Given the description of an element on the screen output the (x, y) to click on. 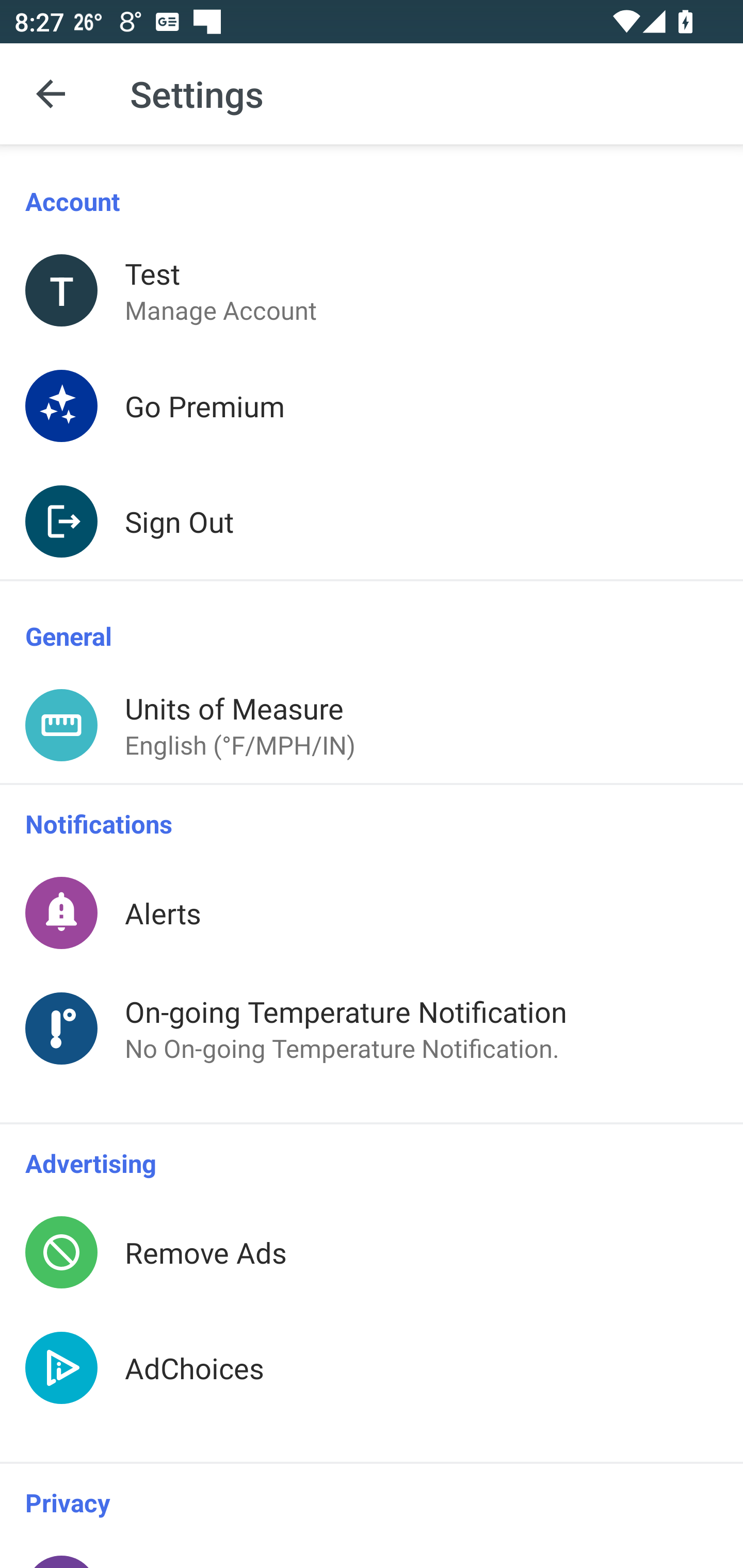
Navigate up (50, 93)
Setting icon T Test Manage Account (371, 290)
Setting icon Go Premium (371, 406)
Setting icon Sign Out (371, 521)
Setting icon Alerts (371, 912)
Setting icon Remove Ads (371, 1252)
Setting icon AdChoices (371, 1385)
